Given the description of an element on the screen output the (x, y) to click on. 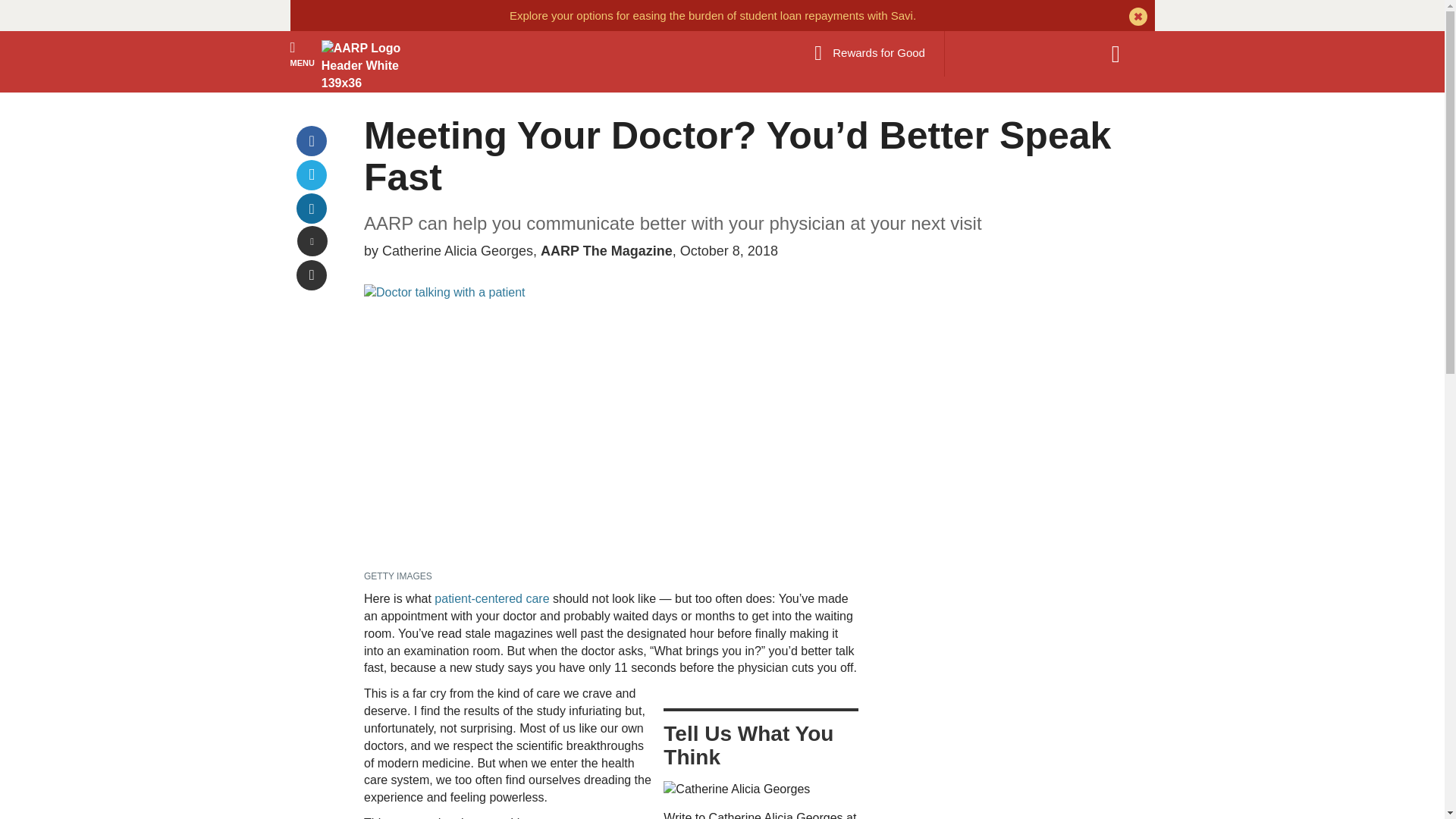
Catherine Alicia Georges (736, 789)
savi (712, 15)
Search (1123, 53)
Homepage (362, 65)
